Given the description of an element on the screen output the (x, y) to click on. 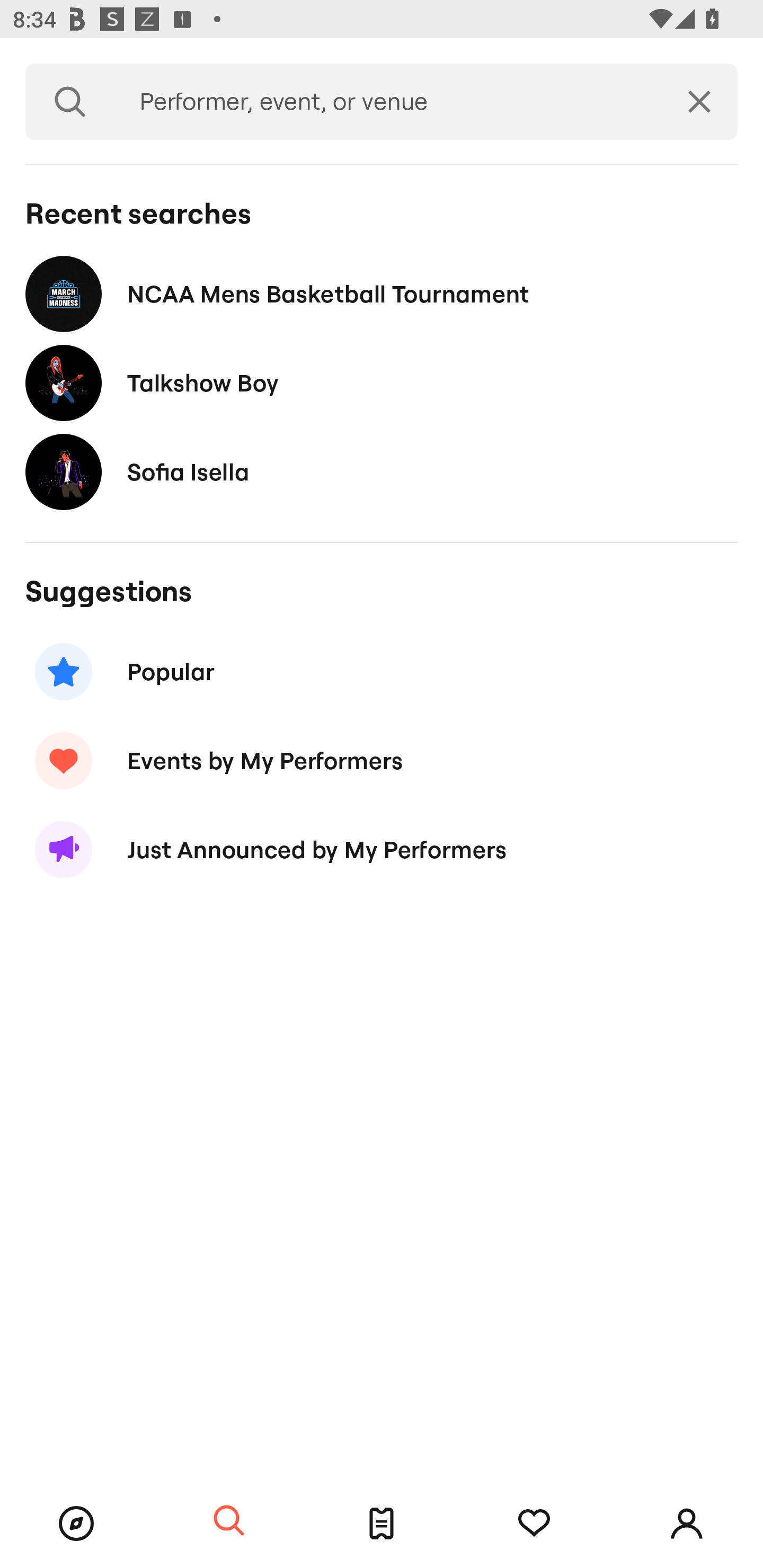
Search (69, 101)
Performer, event, or venue (387, 101)
Clear (699, 101)
NCAA Mens Basketball Tournament (381, 293)
Talkshow Boy (381, 383)
Sofia Isella (381, 471)
Popular (381, 671)
Events by My Performers (381, 760)
Just Announced by My Performers (381, 849)
Browse (76, 1523)
Search (228, 1521)
Tickets (381, 1523)
Tracking (533, 1523)
Account (686, 1523)
